Given the description of an element on the screen output the (x, y) to click on. 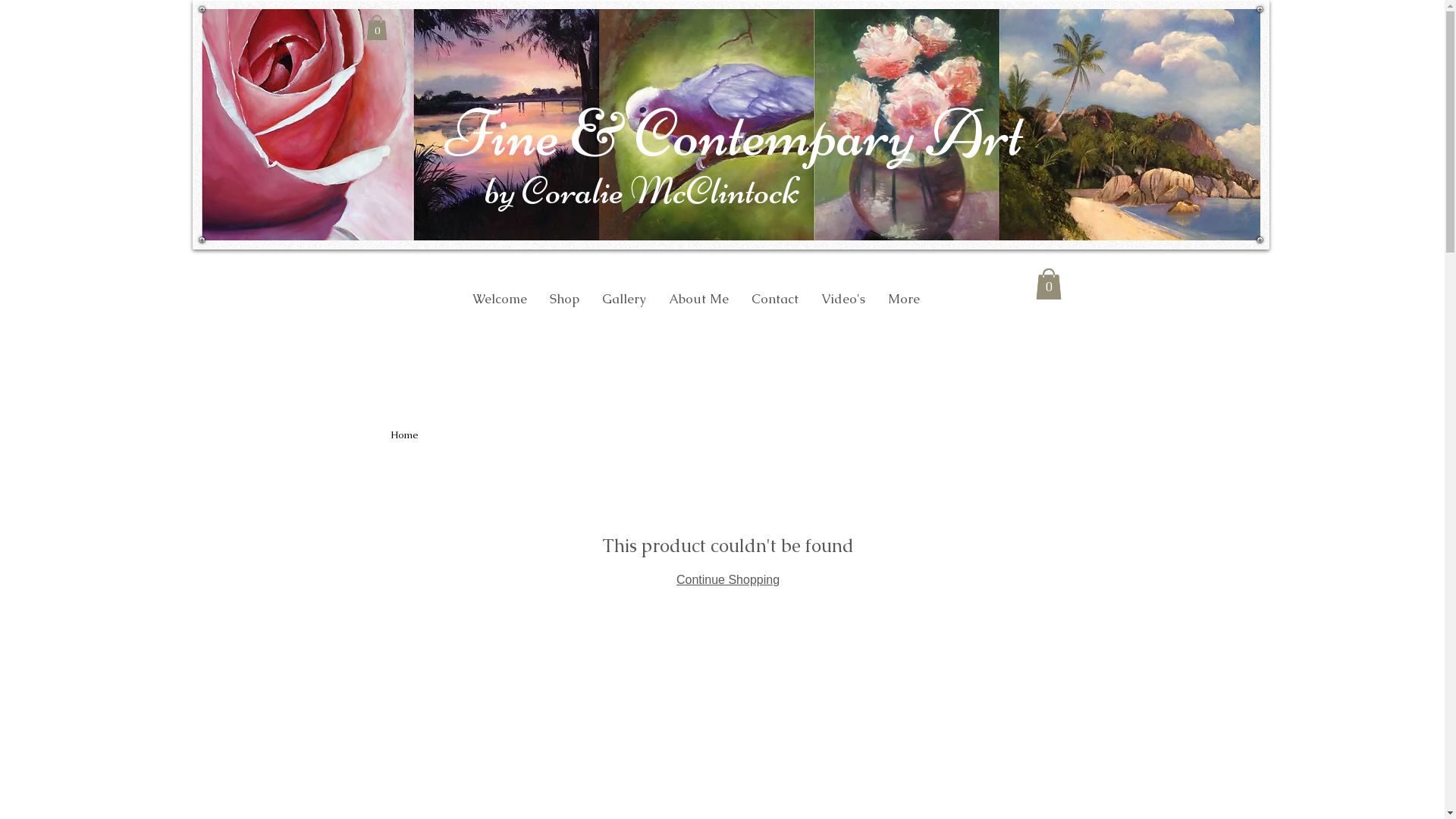
Contact Element type: text (774, 298)
Fine & Contemp Element type: text (641, 133)
Continue Shopping Element type: text (727, 579)
About Me Element type: text (697, 298)
Gallery Element type: text (622, 298)
ary Art Element type: text (929, 133)
0 Element type: text (1048, 283)
Home Element type: text (404, 434)
by Coralie McClintock Element type: text (640, 190)
Welcome Element type: text (499, 298)
Video's Element type: text (842, 298)
Shop Element type: text (564, 298)
Slide1.JPG Element type: hover (730, 124)
0 Element type: text (375, 27)
